Given the description of an element on the screen output the (x, y) to click on. 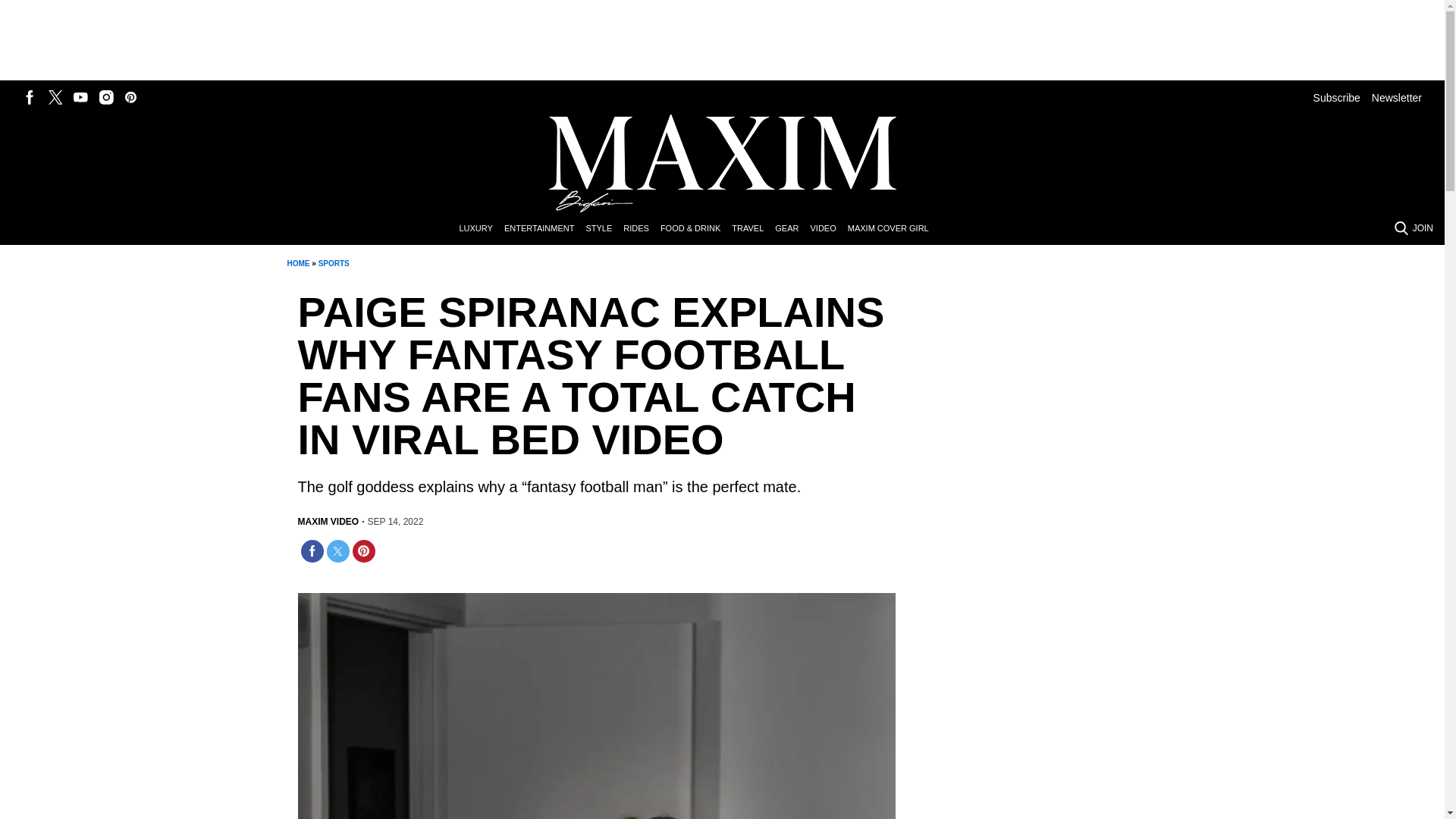
MAXIM COVER GIRL (893, 228)
SPORTS (333, 263)
Share on Facebook (311, 550)
Follow us on Twitter (55, 97)
VIDEO (828, 228)
LUXURY (480, 228)
MAXIM VIDEO (327, 521)
GEAR (791, 228)
JOIN (1422, 228)
STYLE (604, 228)
